Given the description of an element on the screen output the (x, y) to click on. 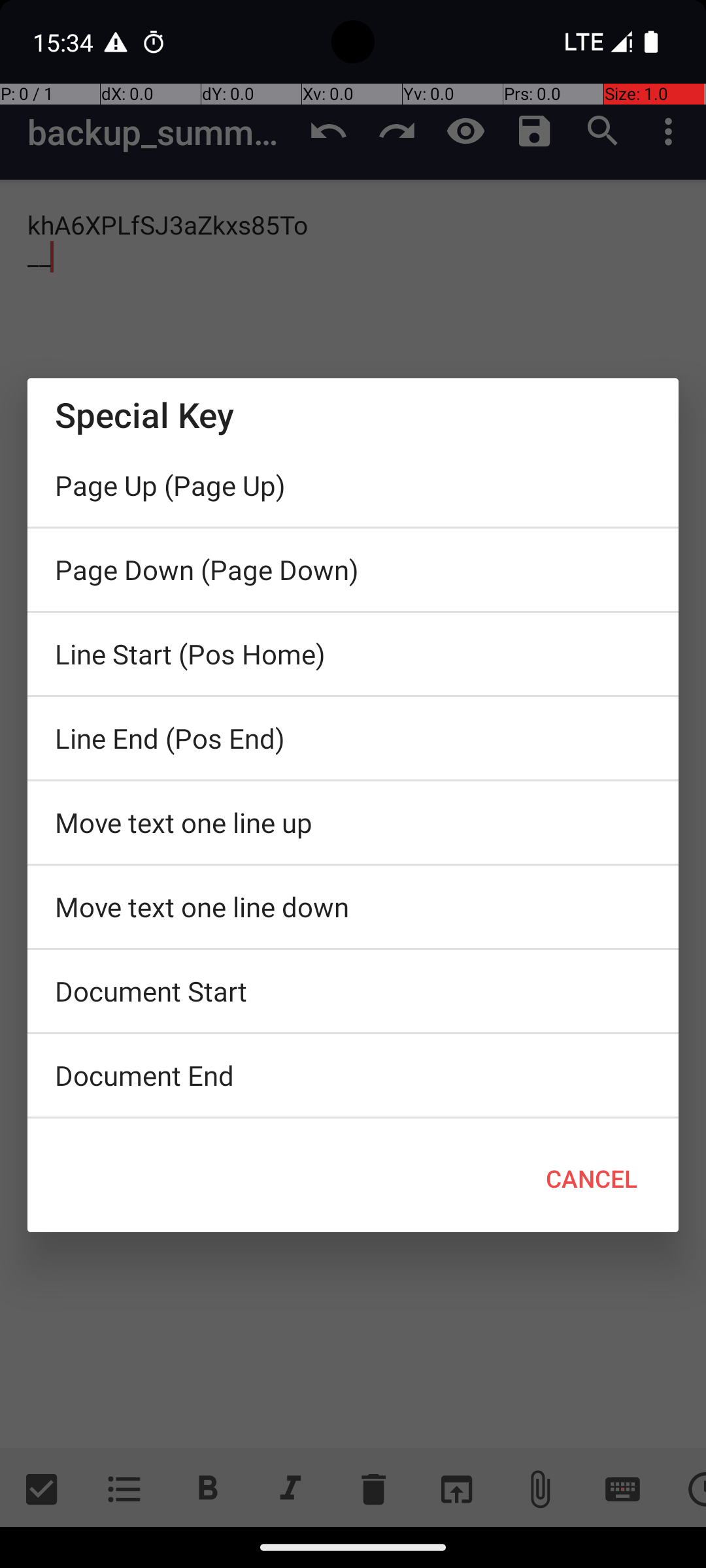
Page Up (Page Up) Element type: android.widget.TextView (352, 485)
Page Down (Page Down) Element type: android.widget.TextView (352, 569)
Line Start (Pos Home) Element type: android.widget.TextView (352, 653)
Line End (Pos End) Element type: android.widget.TextView (352, 738)
Move text one line up Element type: android.widget.TextView (352, 822)
Move text one line down Element type: android.widget.TextView (352, 906)
Document Start Element type: android.widget.TextView (352, 990)
Document End Element type: android.widget.TextView (352, 1075)
Select all (Ctrl+A) Element type: android.widget.TextView (352, 1121)
